Given the description of an element on the screen output the (x, y) to click on. 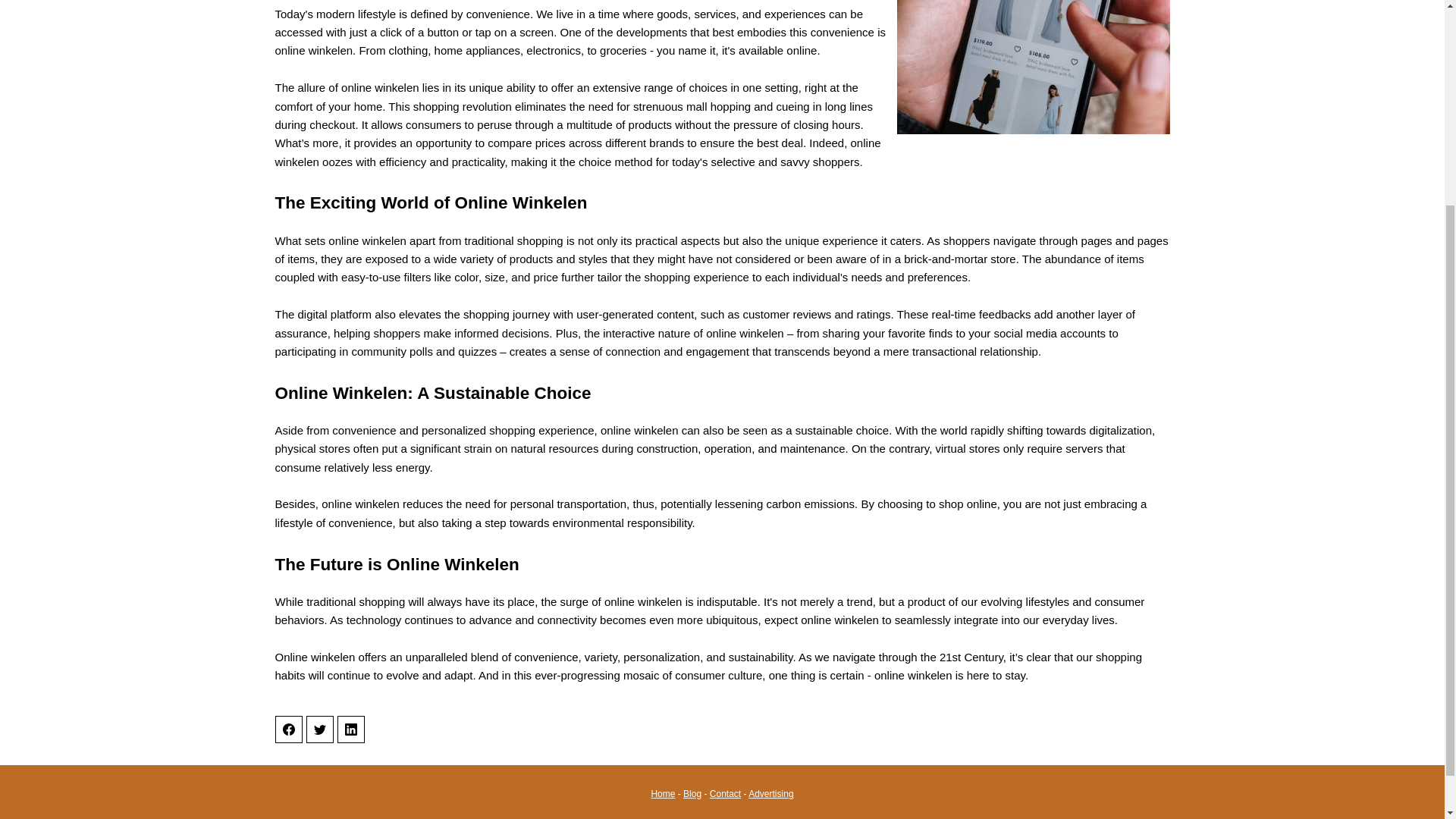
Contact (725, 793)
Home (662, 793)
Blog (691, 793)
Advertising (770, 793)
